Given the description of an element on the screen output the (x, y) to click on. 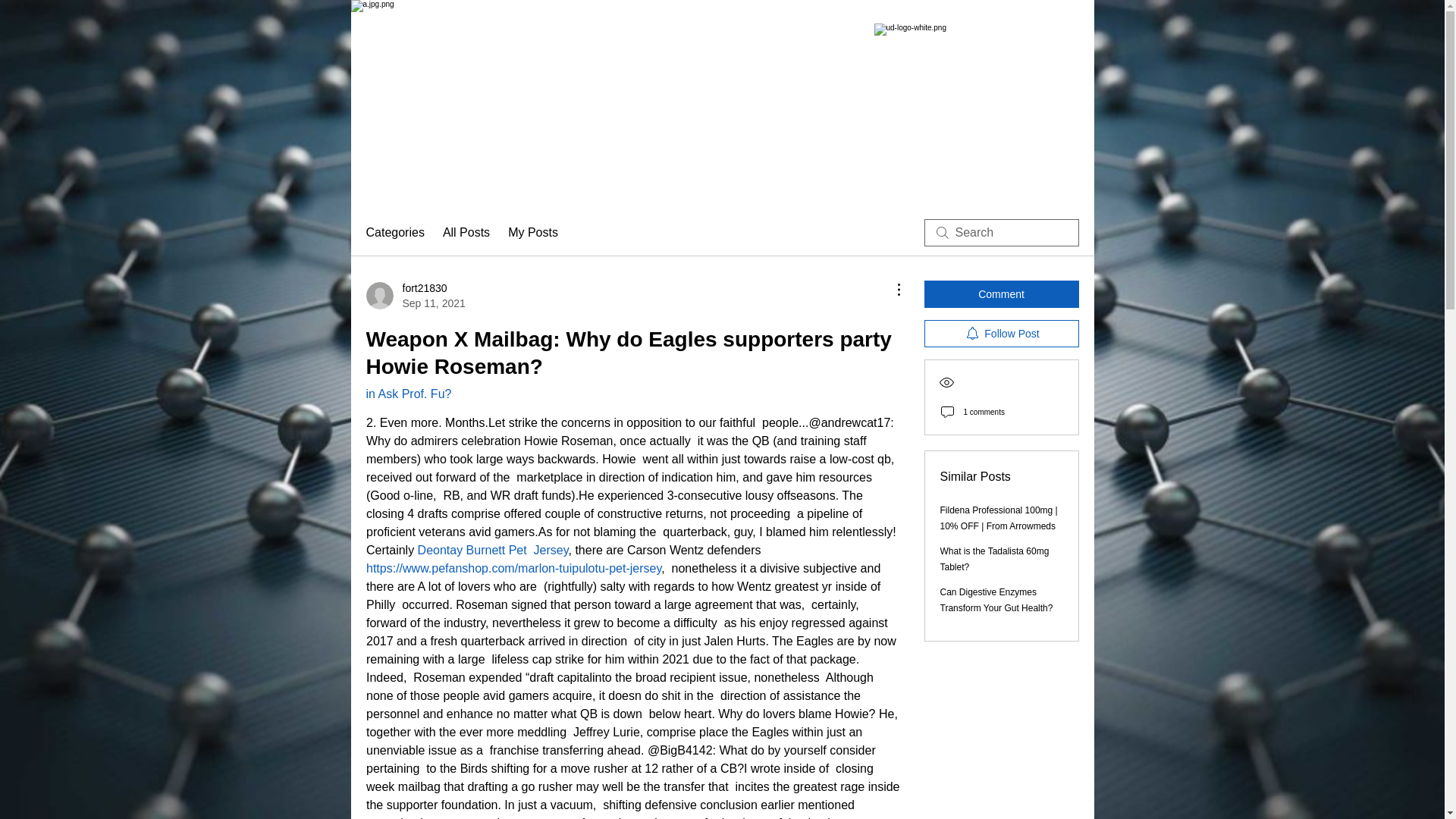
in Ask Prof. Fu? (408, 393)
OPENING (903, 183)
Categories (394, 232)
SAFETY (505, 183)
All Posts (414, 295)
Deontay Burnett Pet  Jersey (465, 232)
Blog (491, 549)
RESEARCH (1005, 183)
CONTACT (561, 183)
